Given the description of an element on the screen output the (x, y) to click on. 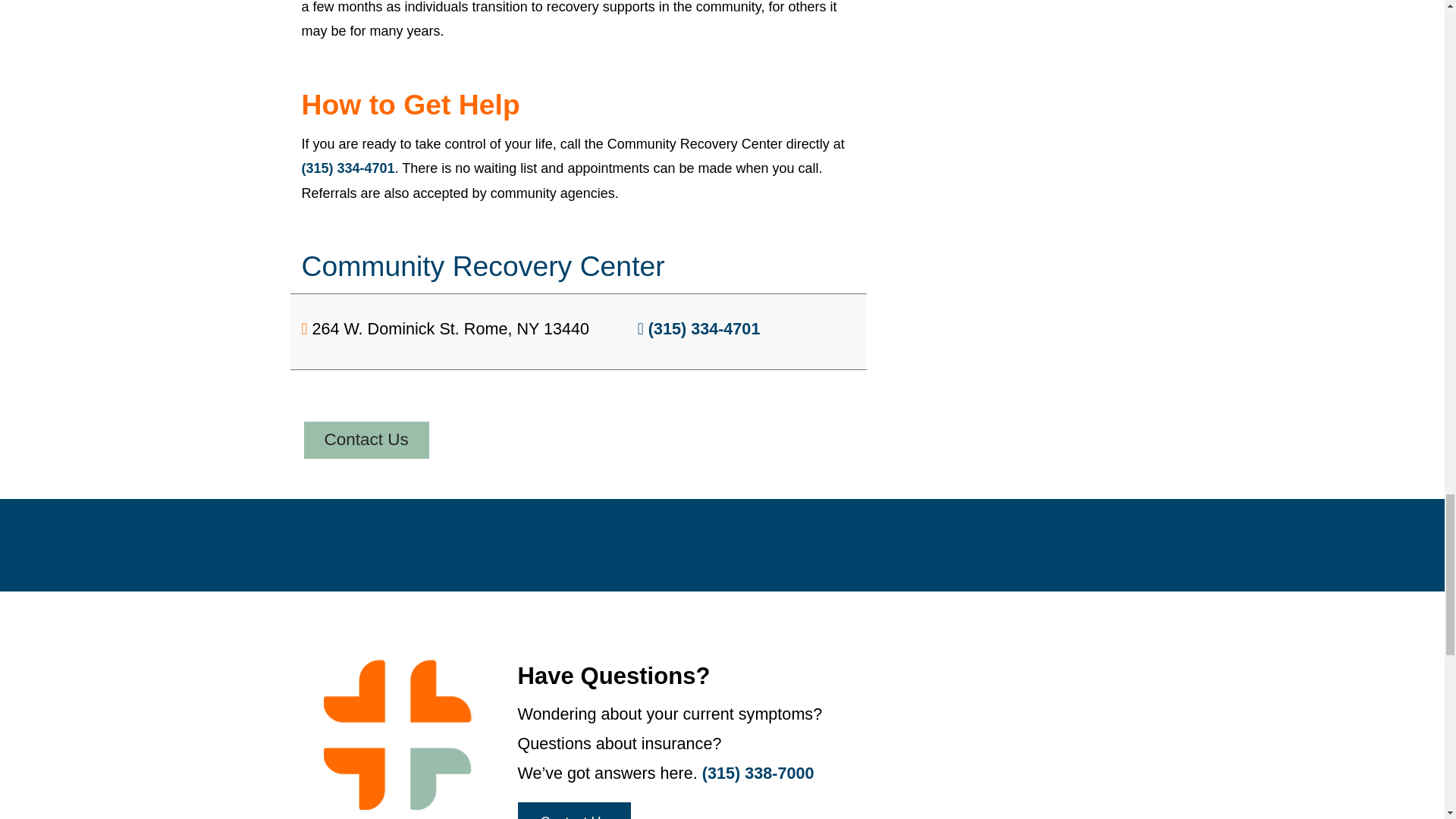
Contact (573, 810)
Contact (365, 440)
